Given the description of an element on the screen output the (x, y) to click on. 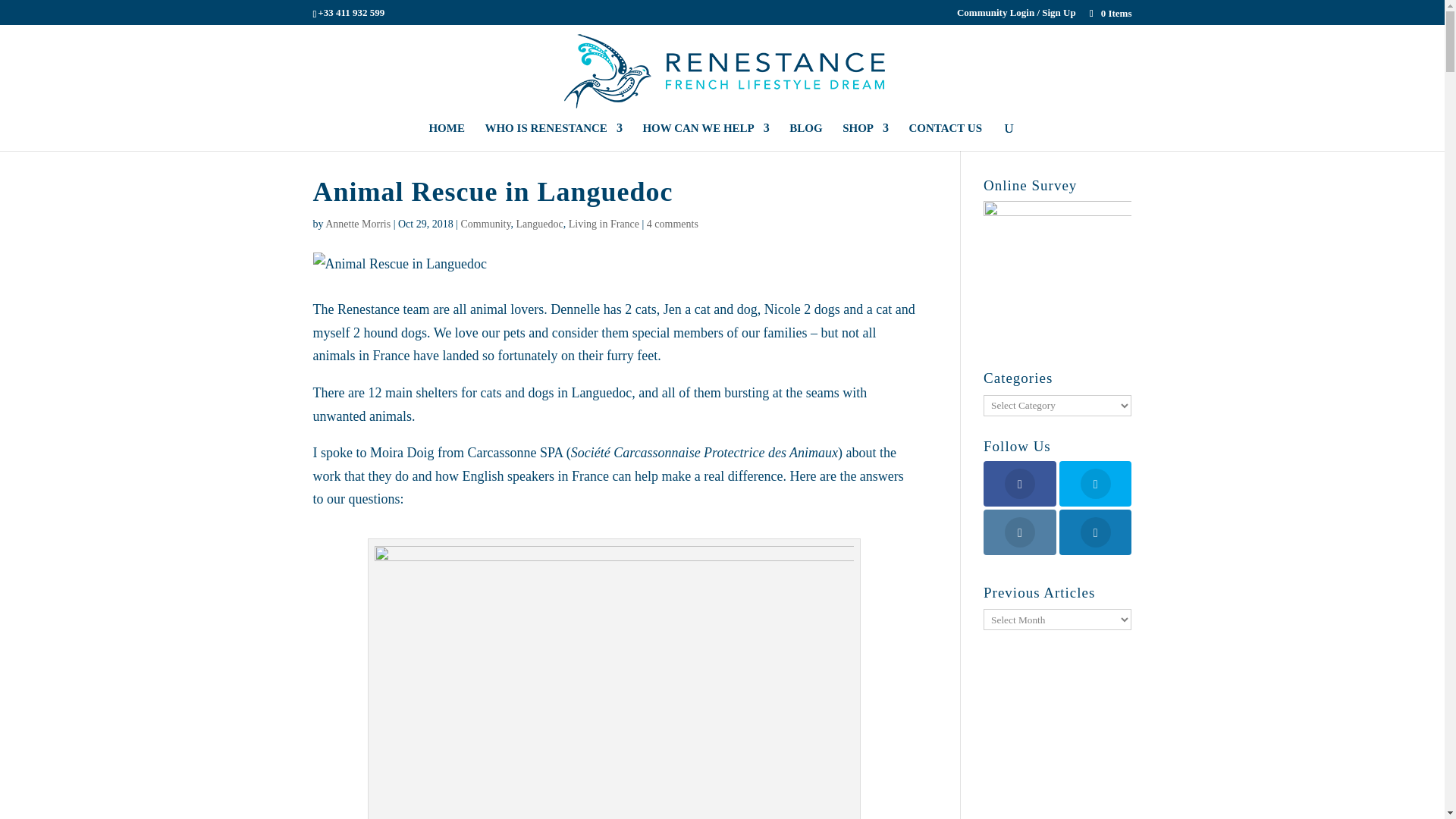
0 Items (1109, 12)
HOME (446, 136)
Annette Morris (357, 224)
SHOP (865, 136)
BLOG (805, 136)
Living in France (604, 224)
CONTACT US (944, 136)
WHO IS RENESTANCE (552, 136)
HOW CAN WE HELP (705, 136)
4 comments (672, 224)
